Given the description of an element on the screen output the (x, y) to click on. 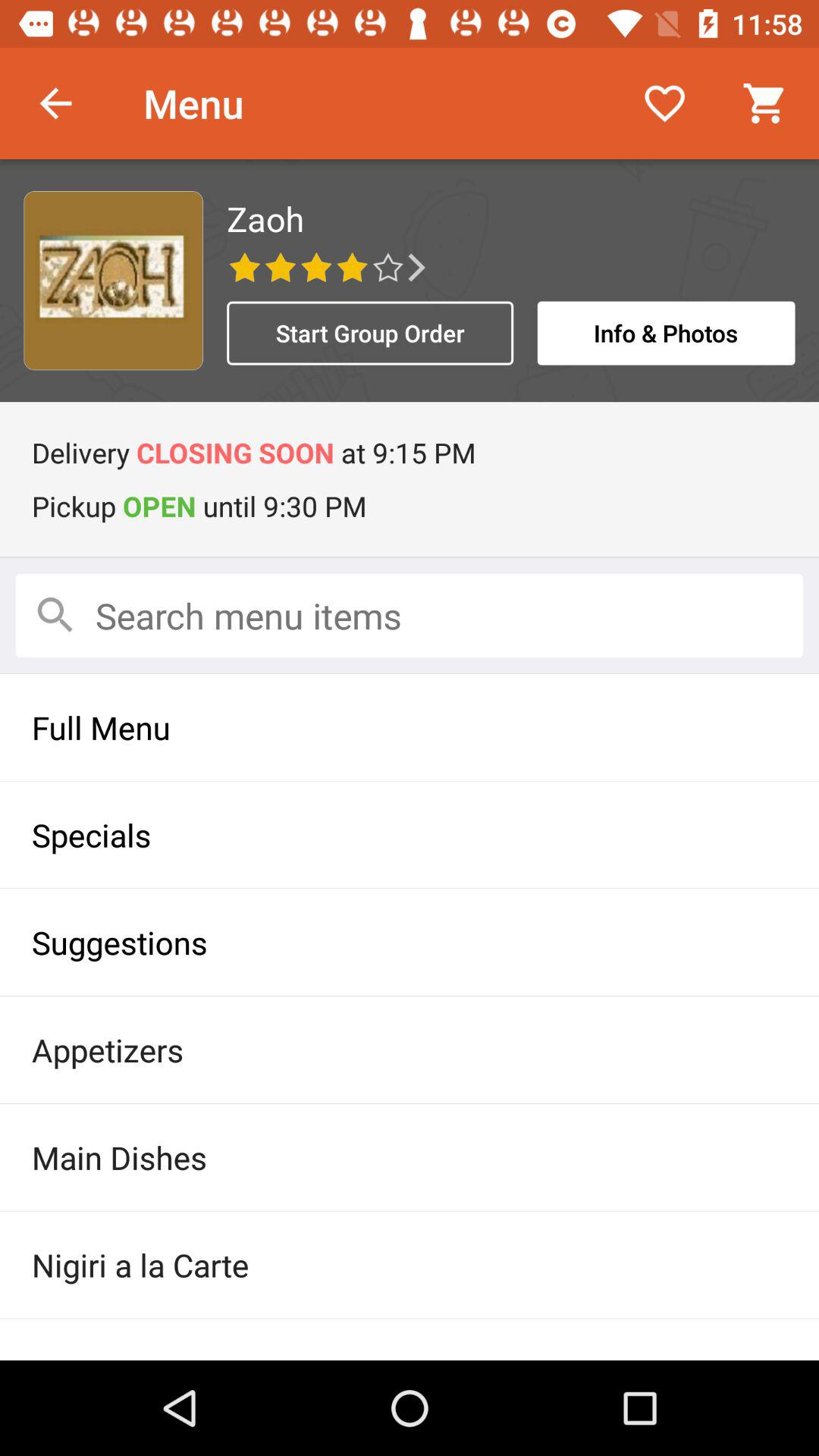
scroll until suggestions (409, 941)
